Given the description of an element on the screen output the (x, y) to click on. 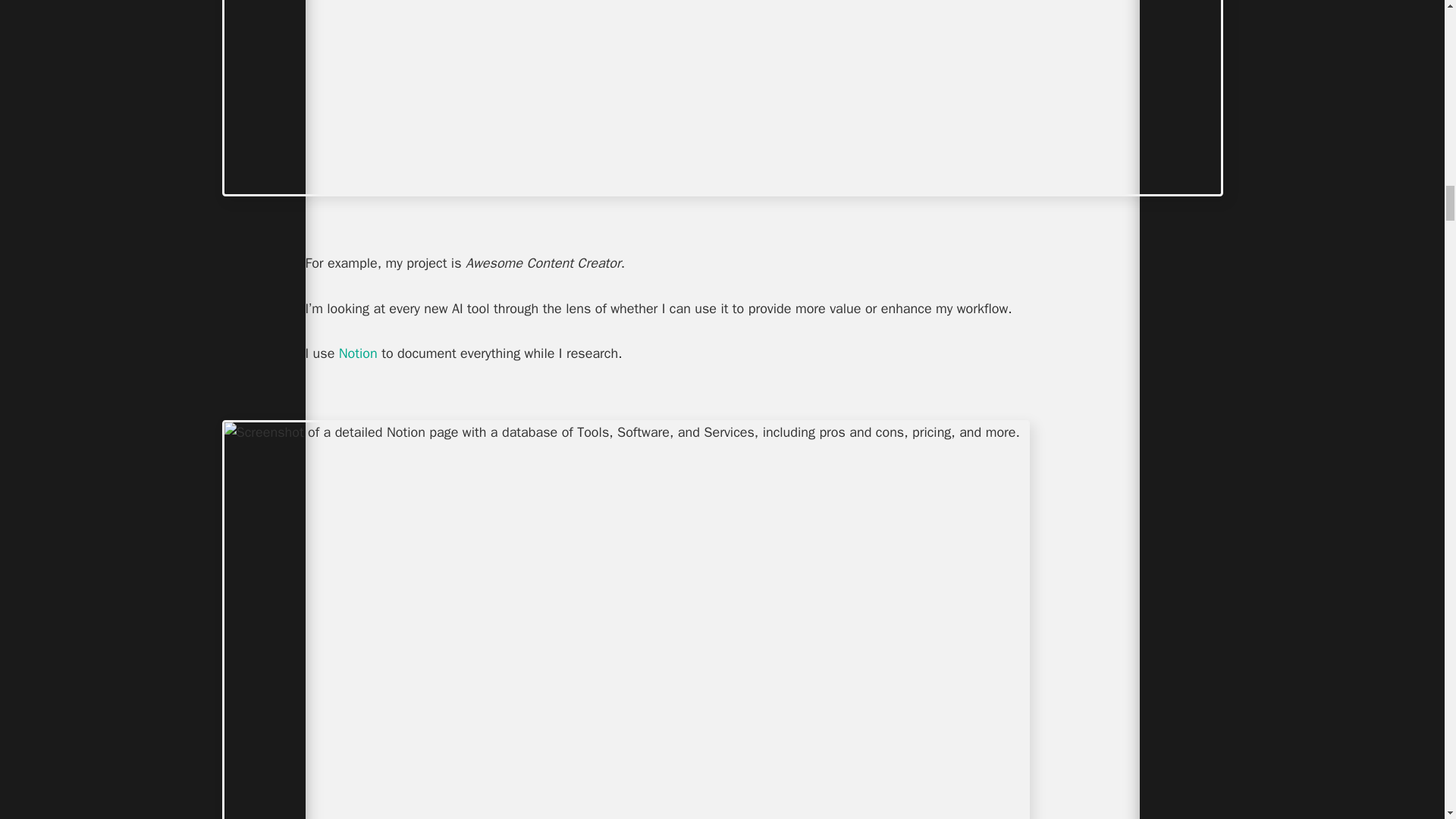
Notion (358, 353)
